Given the description of an element on the screen output the (x, y) to click on. 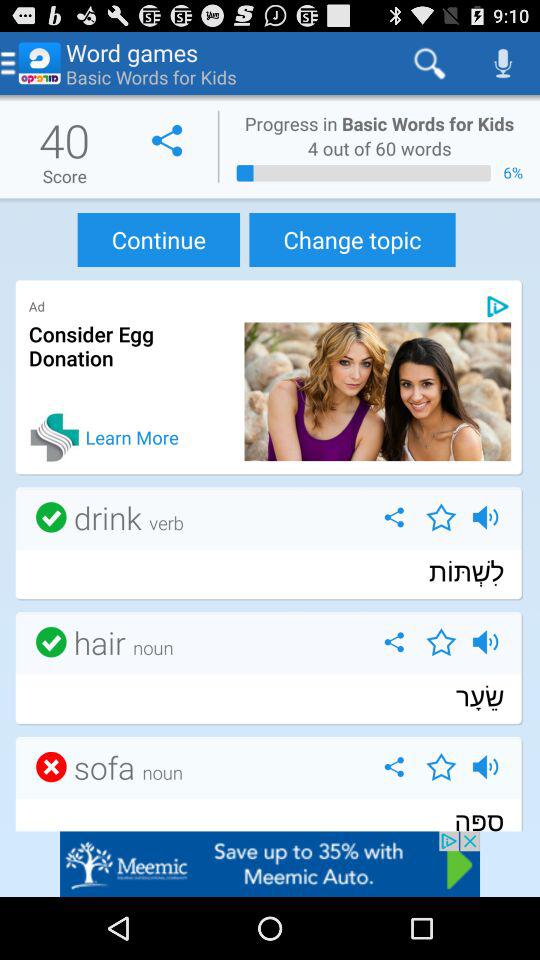
goto advertisement website (270, 864)
